Given the description of an element on the screen output the (x, y) to click on. 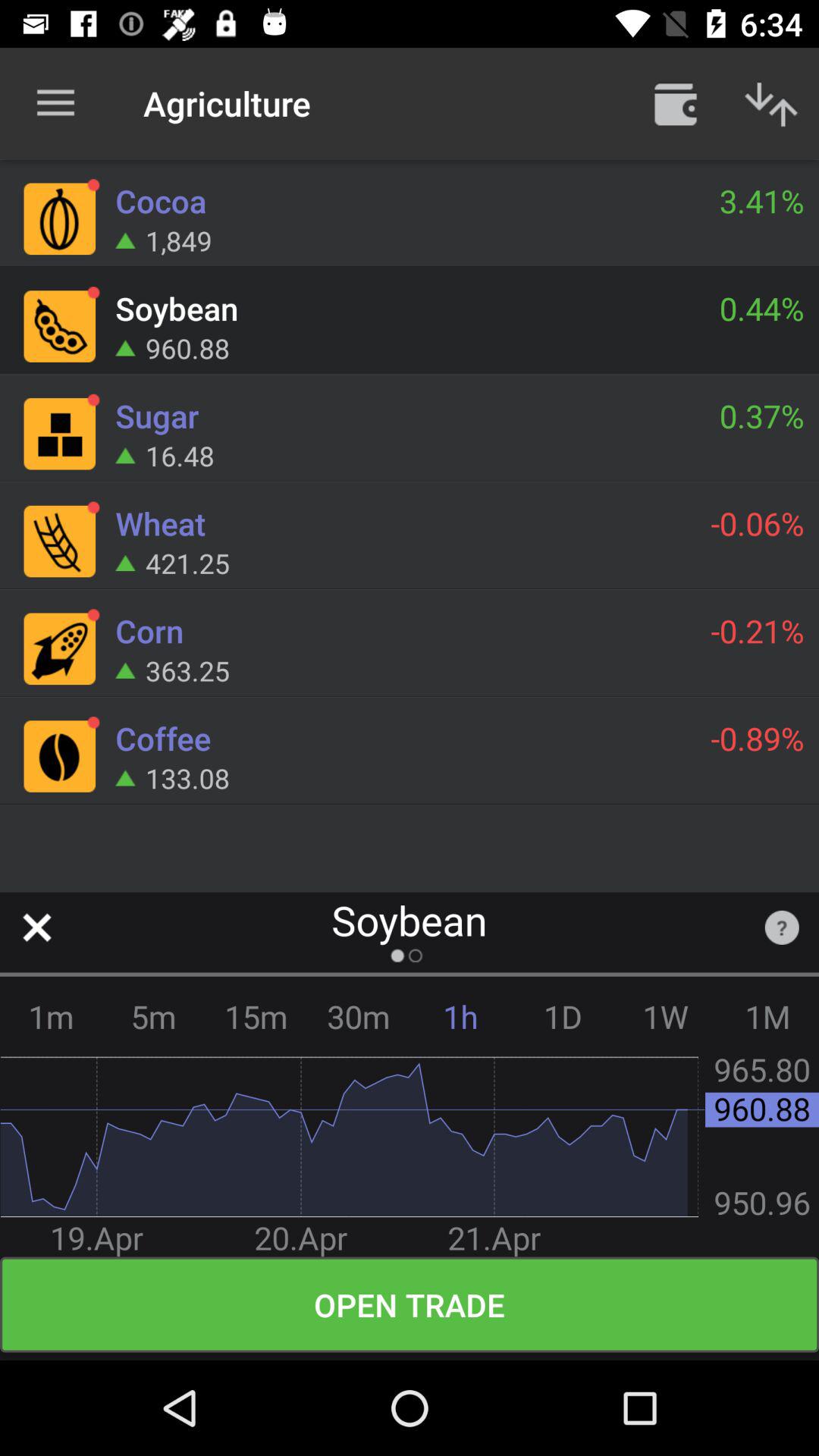
close screen (36, 927)
